Given the description of an element on the screen output the (x, y) to click on. 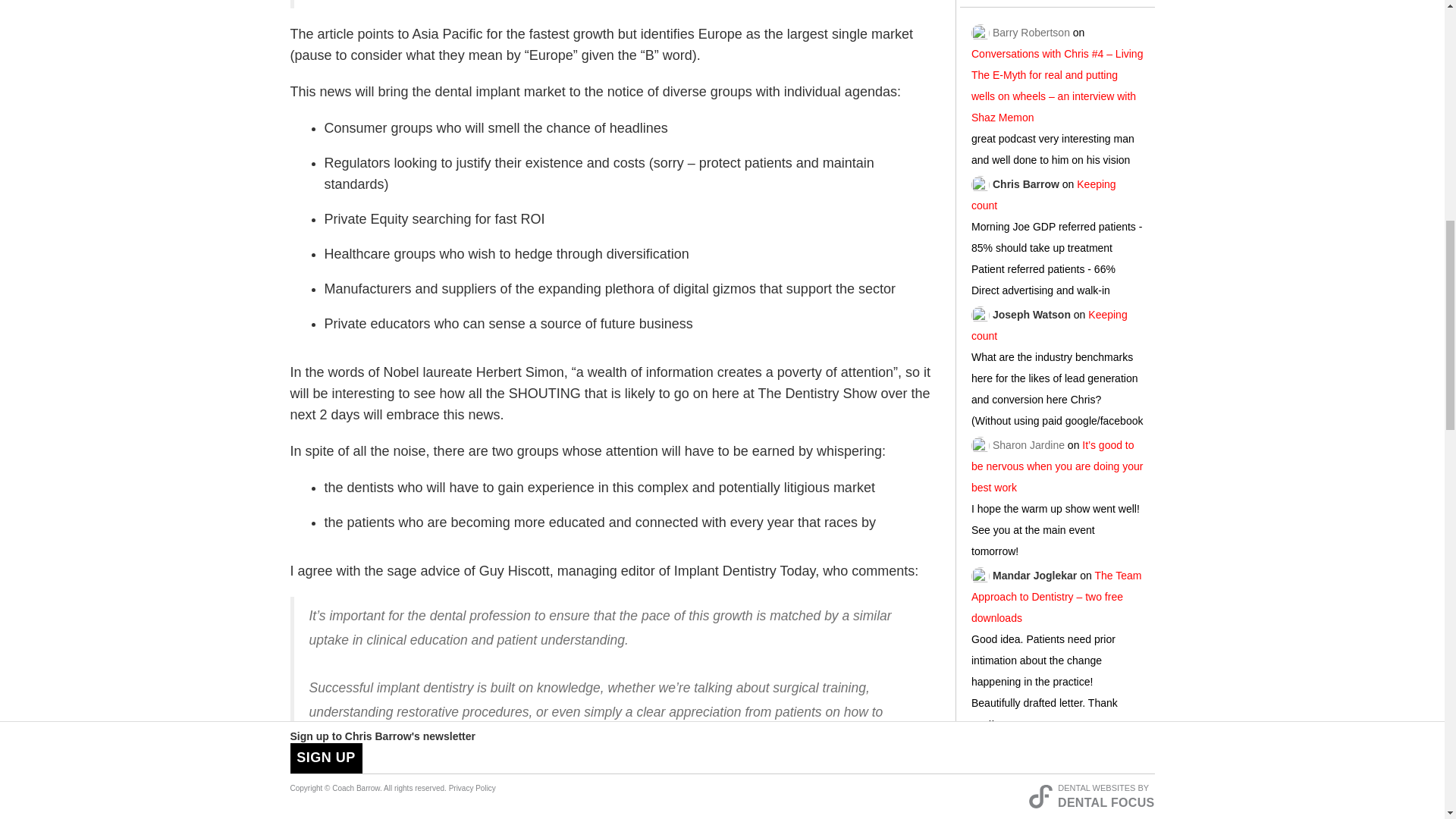
Chris Barrow (1025, 180)
Joseph Watson (1031, 311)
Mandar Joglekar (1034, 571)
Keeping count (1043, 190)
Advertising (1056, 808)
Keeping count (1048, 321)
